Given the description of an element on the screen output the (x, y) to click on. 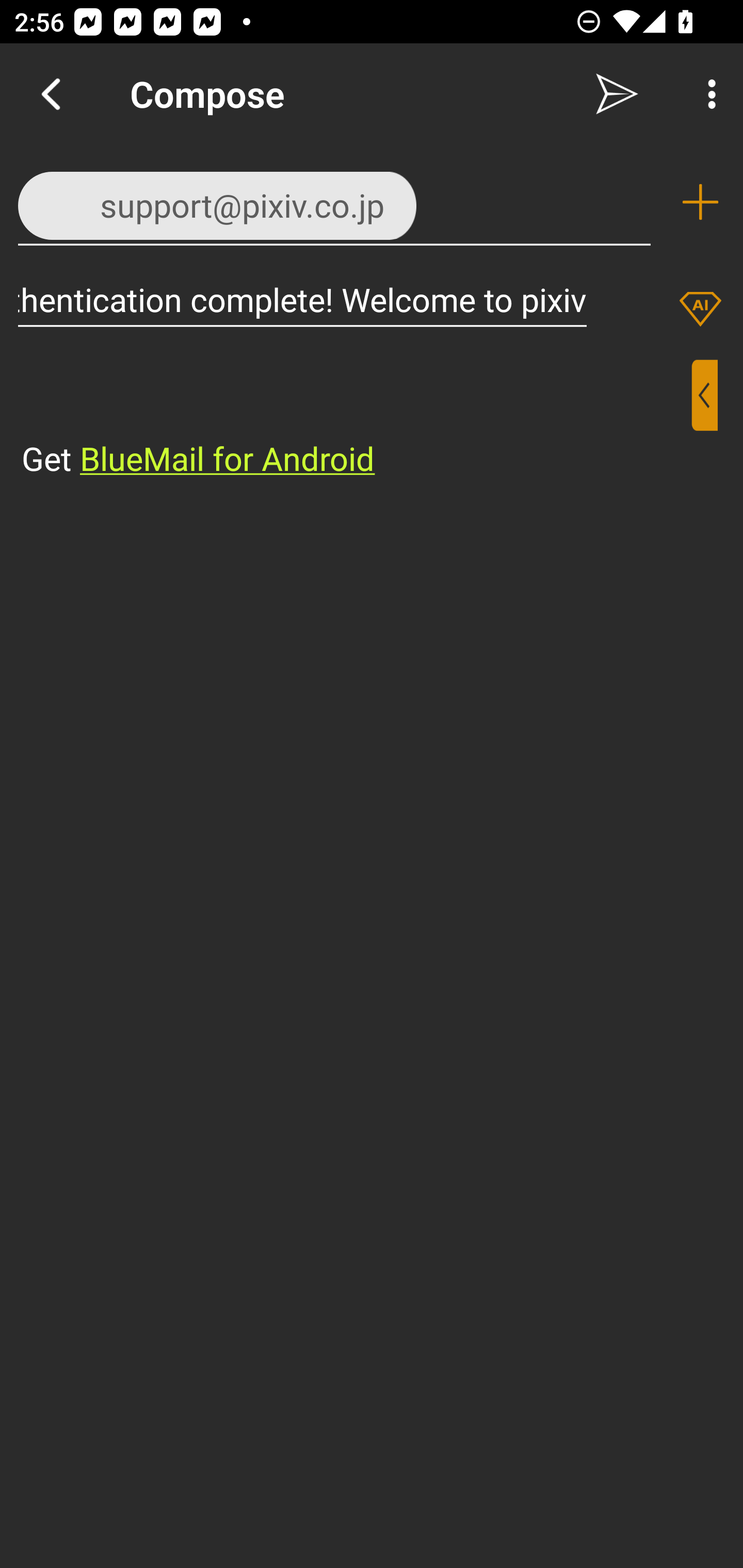
Navigate up (50, 93)
Send (616, 93)
More Options (706, 93)
<support@pixiv.co.jp>,  (334, 201)
Add recipient (To) (699, 201)


⁣Get BlueMail for Android ​ (355, 419)
